Given the description of an element on the screen output the (x, y) to click on. 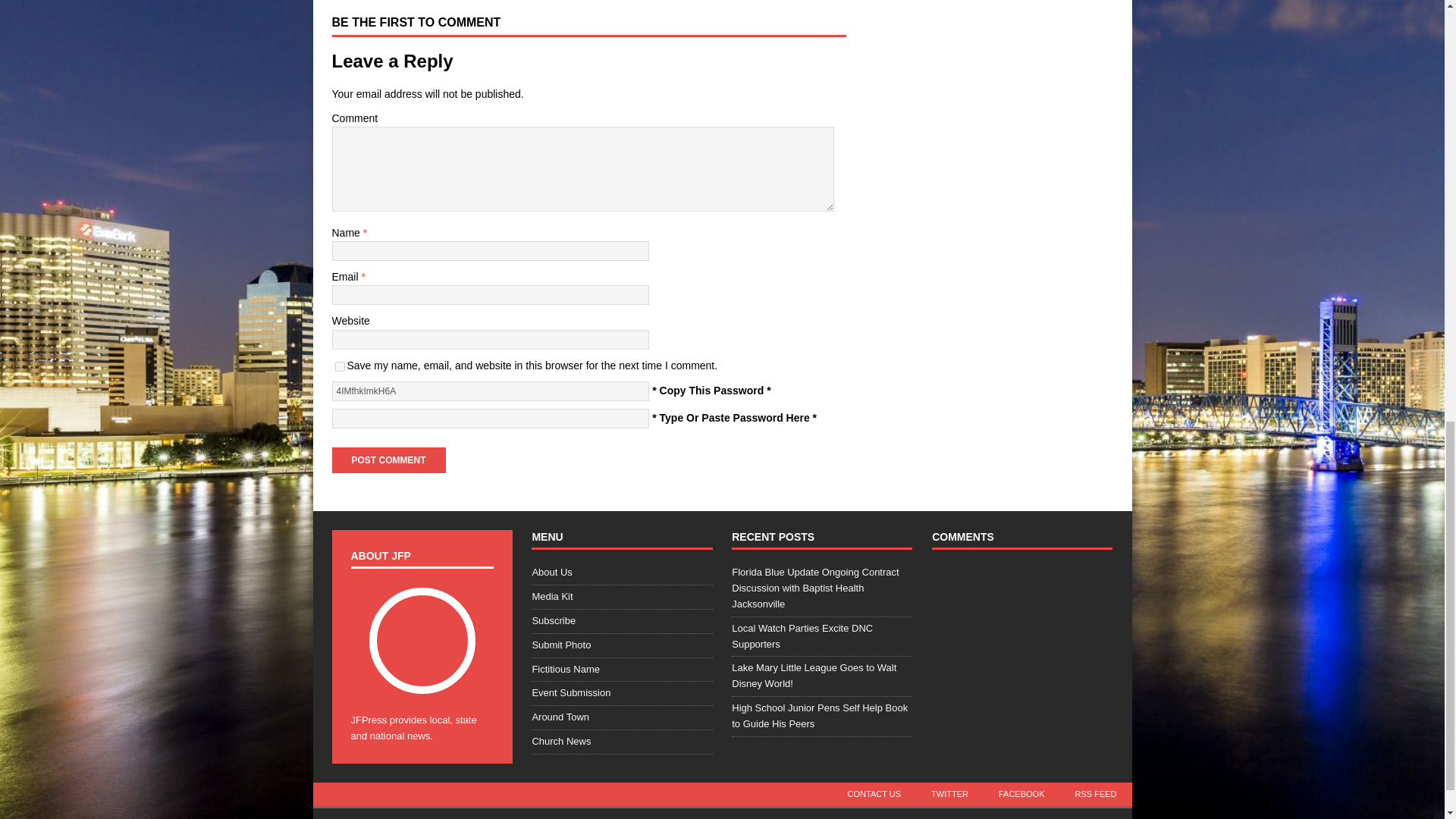
yes (339, 366)
Post Comment (388, 460)
4IMfhkImkH6A (490, 391)
